Given the description of an element on the screen output the (x, y) to click on. 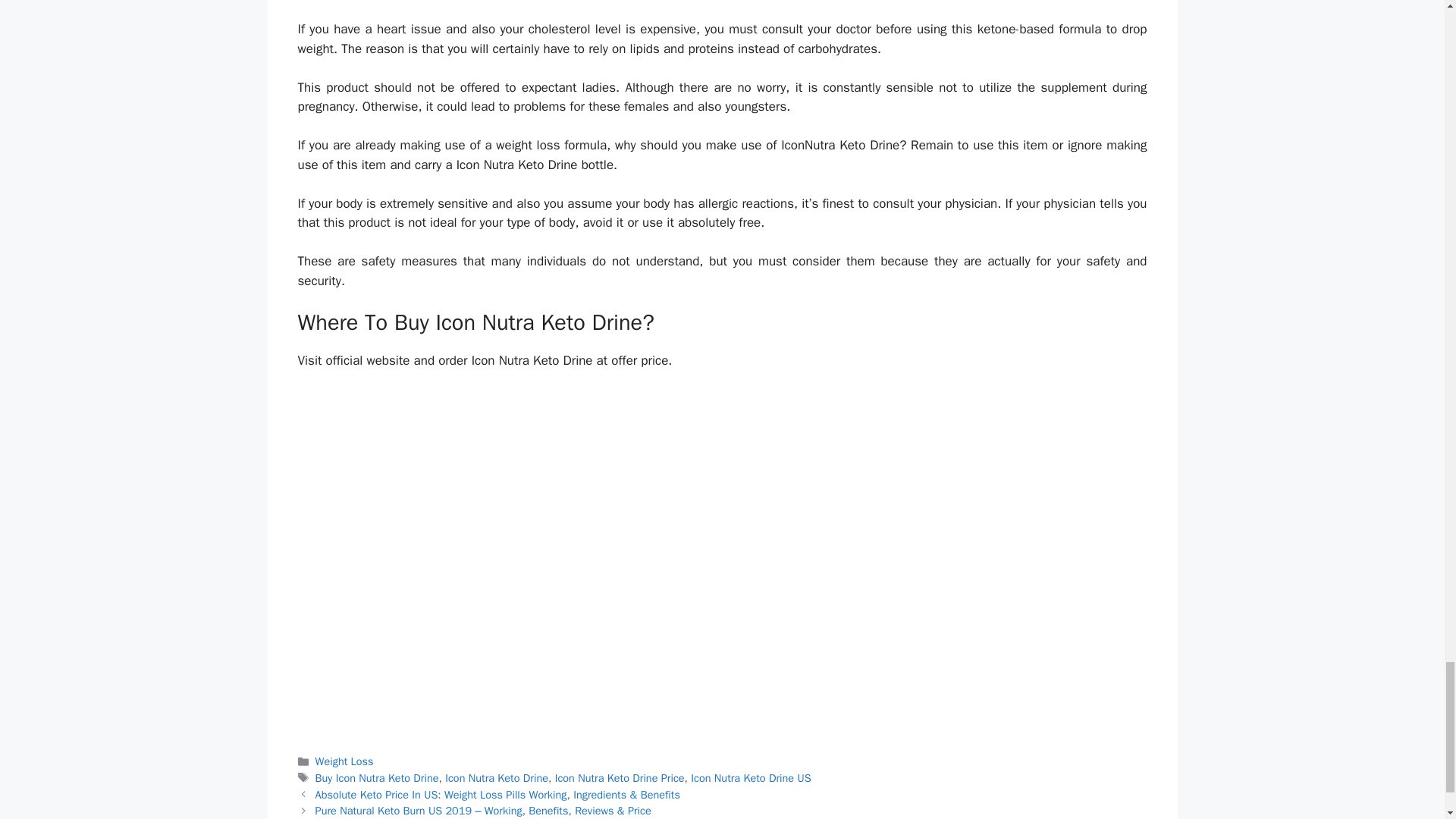
Icon Nutra Keto Drine US (750, 777)
Icon Nutra Keto Drine (496, 777)
Icon Nutra Keto Drine Price (619, 777)
Buy Icon Nutra Keto Drine (377, 777)
Weight Loss (344, 761)
